Given the description of an element on the screen output the (x, y) to click on. 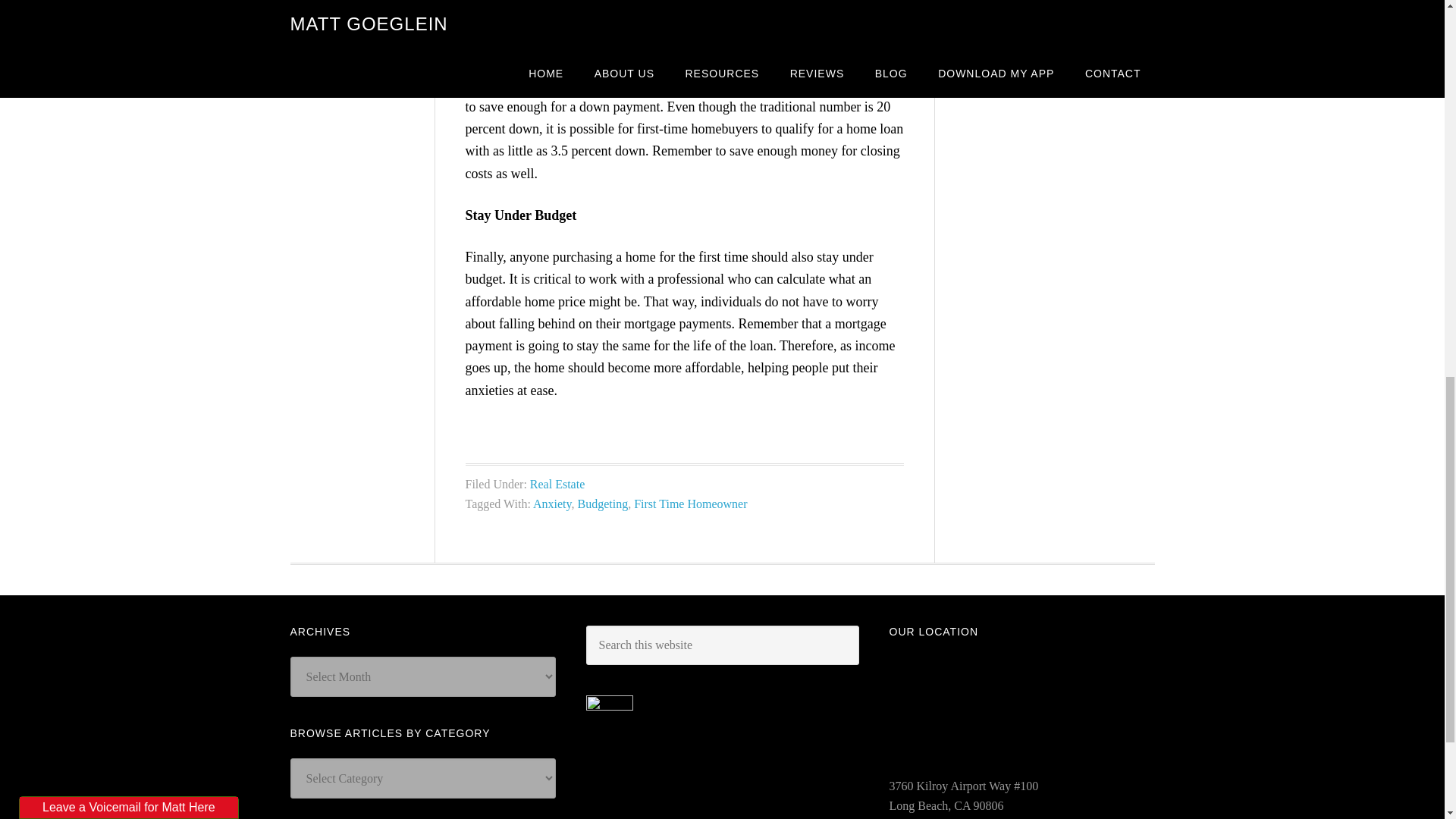
Real Estate (557, 483)
First Time Homeowner (689, 503)
Anxiety (552, 503)
Budgeting (603, 503)
  Download My App (1059, 10)
